Given the description of an element on the screen output the (x, y) to click on. 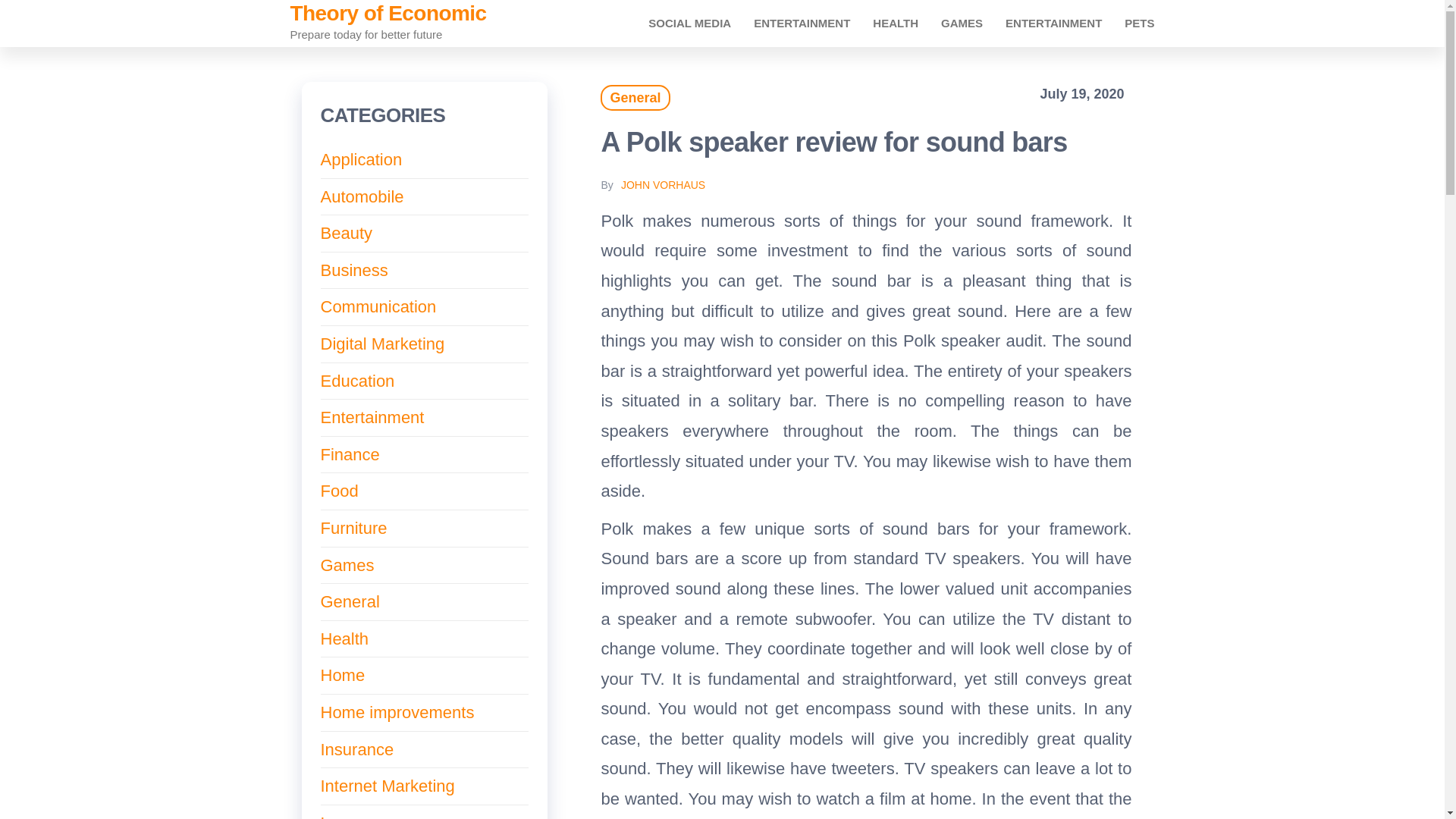
Internet Marketing (387, 785)
Social Media (689, 22)
GAMES (962, 22)
Business (353, 270)
ENTERTAINMENT (1053, 22)
Health (895, 22)
Application (360, 158)
JOHN VORHAUS (662, 184)
Home (342, 674)
Automobile (361, 196)
Beauty (346, 232)
Furniture (353, 527)
Law (335, 816)
Health (344, 638)
General (634, 97)
